Given the description of an element on the screen output the (x, y) to click on. 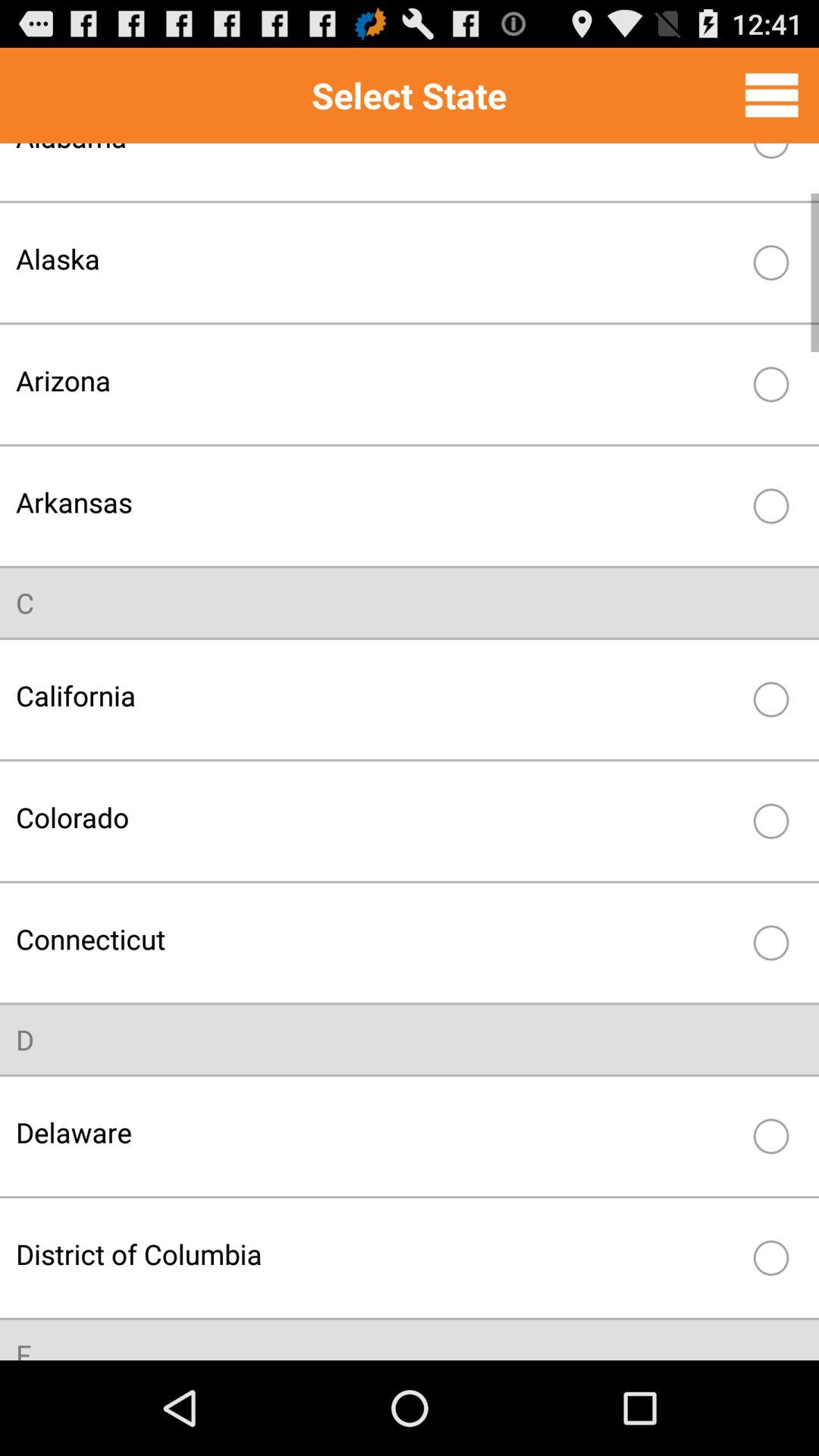
turn off c item (24, 602)
